Given the description of an element on the screen output the (x, y) to click on. 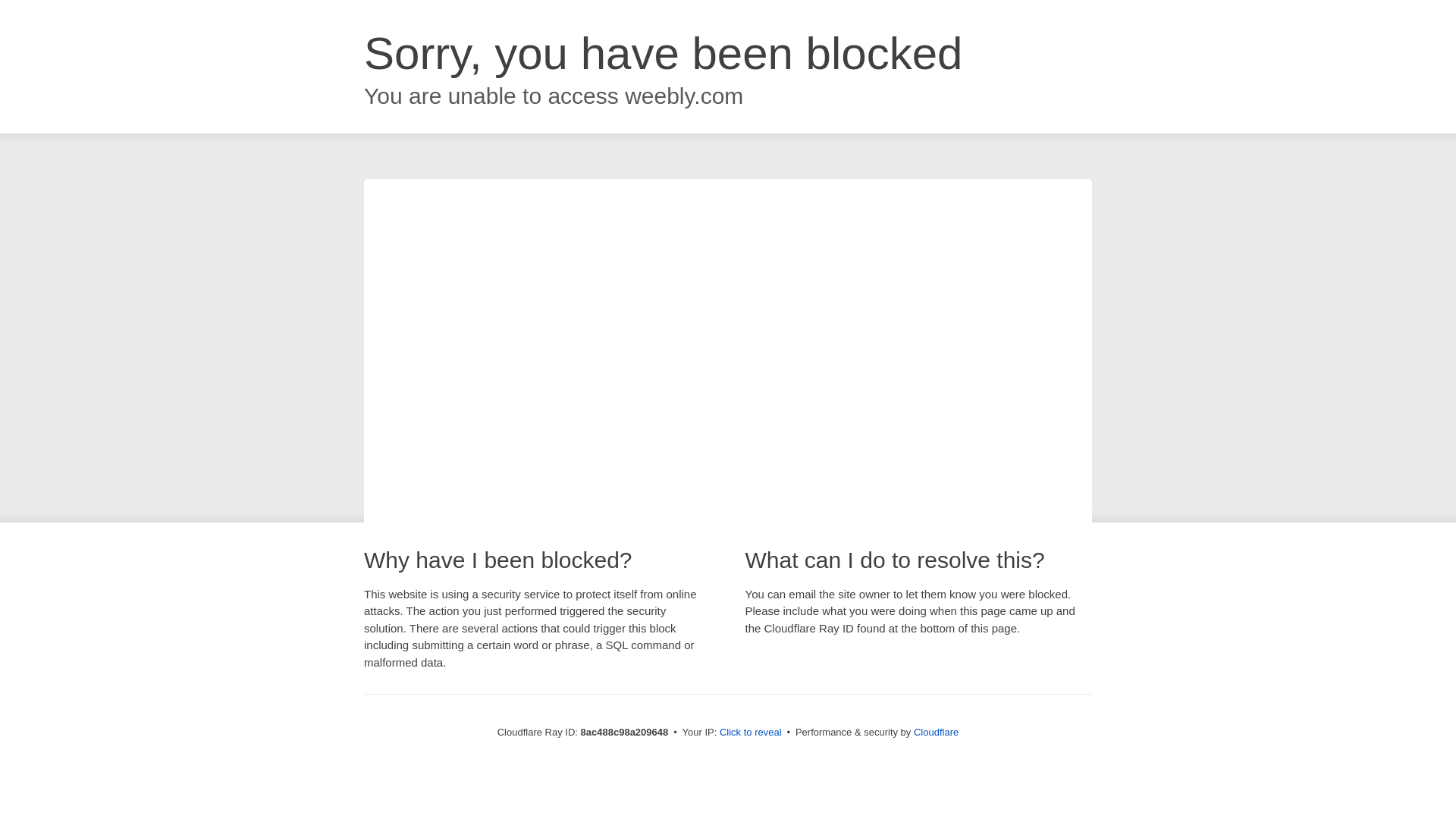
Cloudflare (936, 731)
Click to reveal (750, 732)
